Given the description of an element on the screen output the (x, y) to click on. 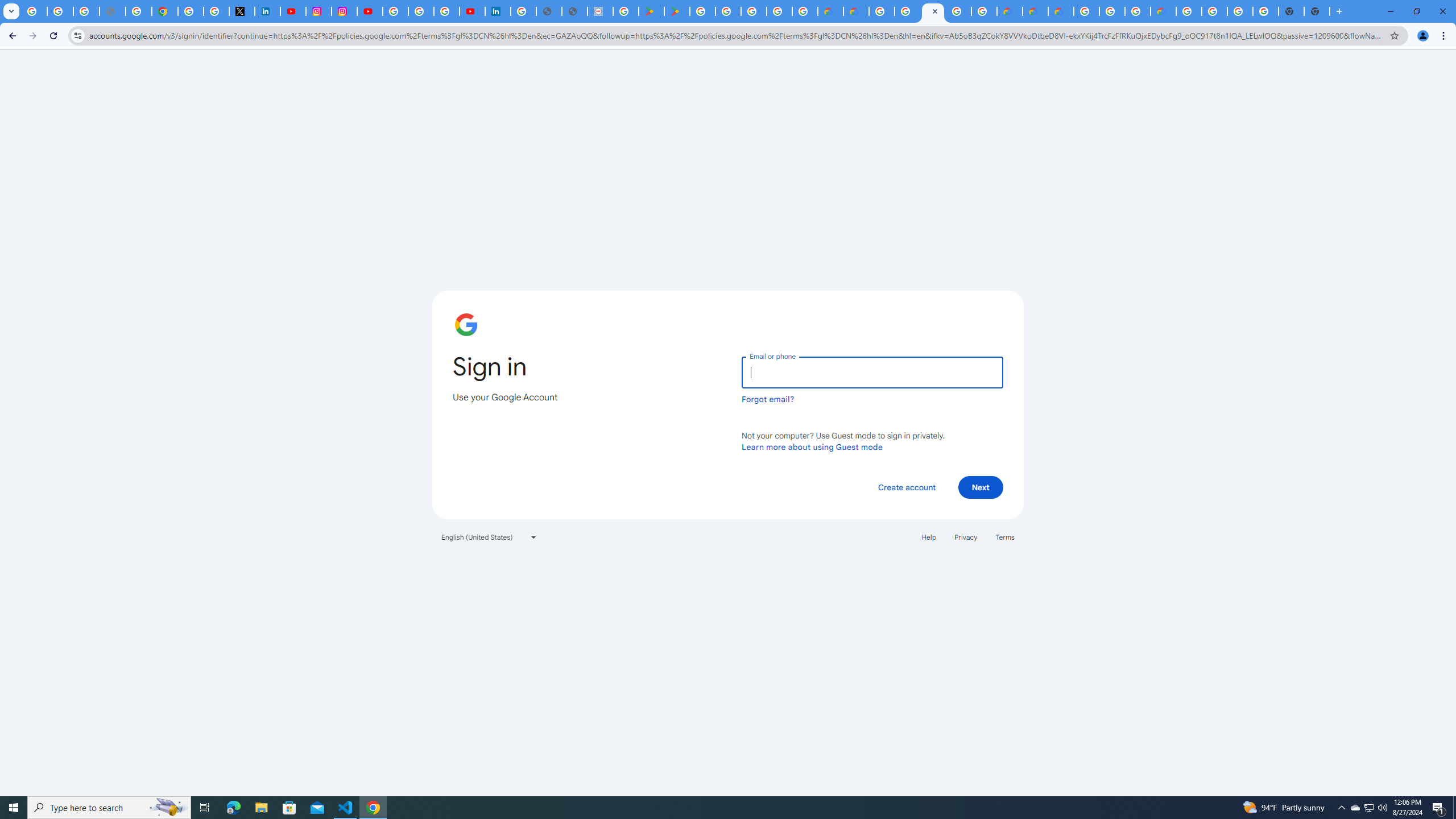
Sign in - Google Accounts (190, 11)
support.google.com - Network error (112, 11)
Terms (1005, 536)
Learn more about using Guest mode (812, 446)
google_privacy_policy_en.pdf (548, 11)
X (242, 11)
User Details (574, 11)
Help (928, 536)
Google Cloud Platform (958, 11)
